Given the description of an element on the screen output the (x, y) to click on. 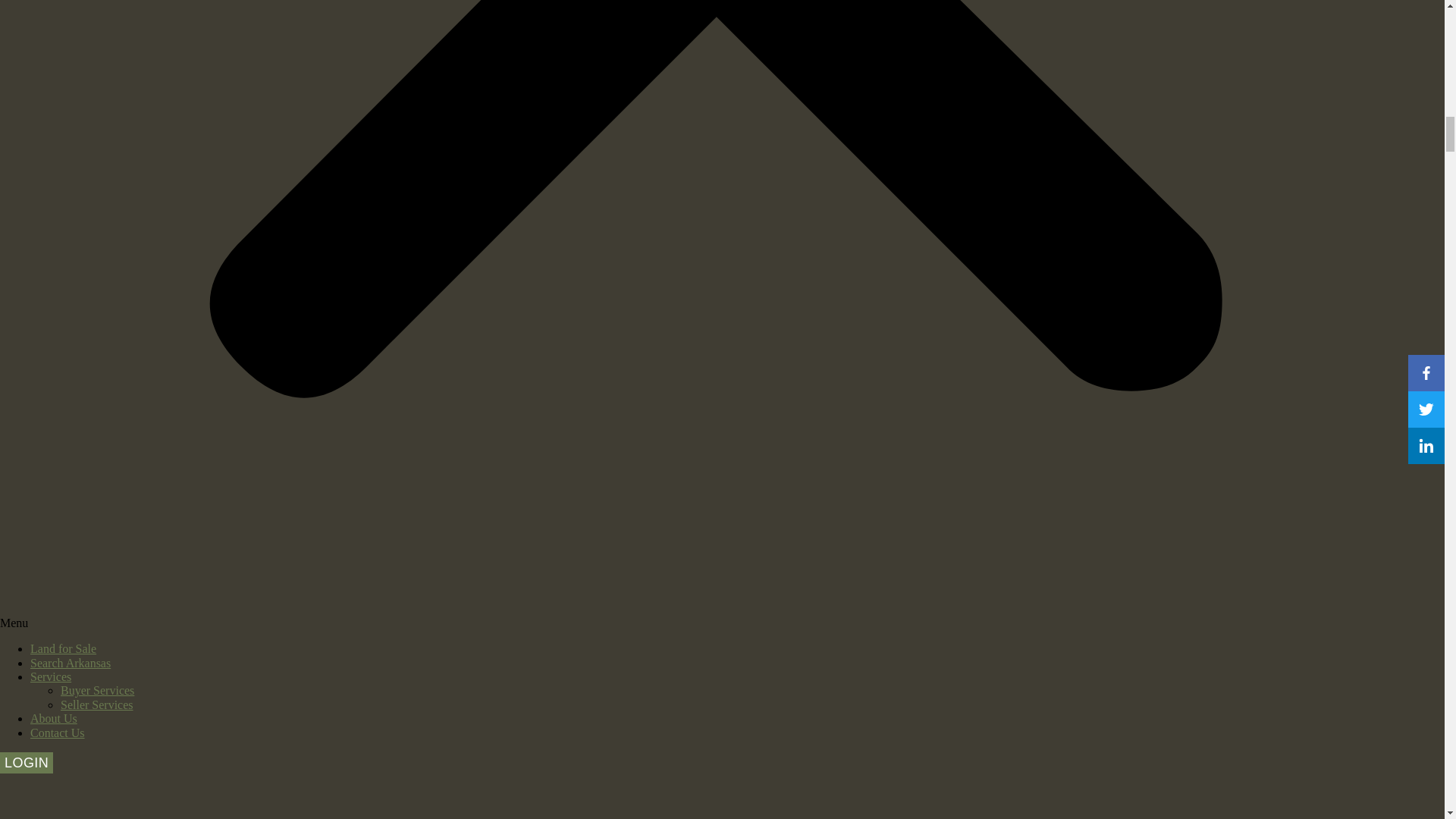
Search Arkansas (70, 662)
Services (50, 676)
Seller Services (97, 704)
Buyer Services (97, 689)
About Us (53, 717)
Contact Us (57, 732)
LOGIN (26, 762)
Land for Sale (63, 648)
